Given the description of an element on the screen output the (x, y) to click on. 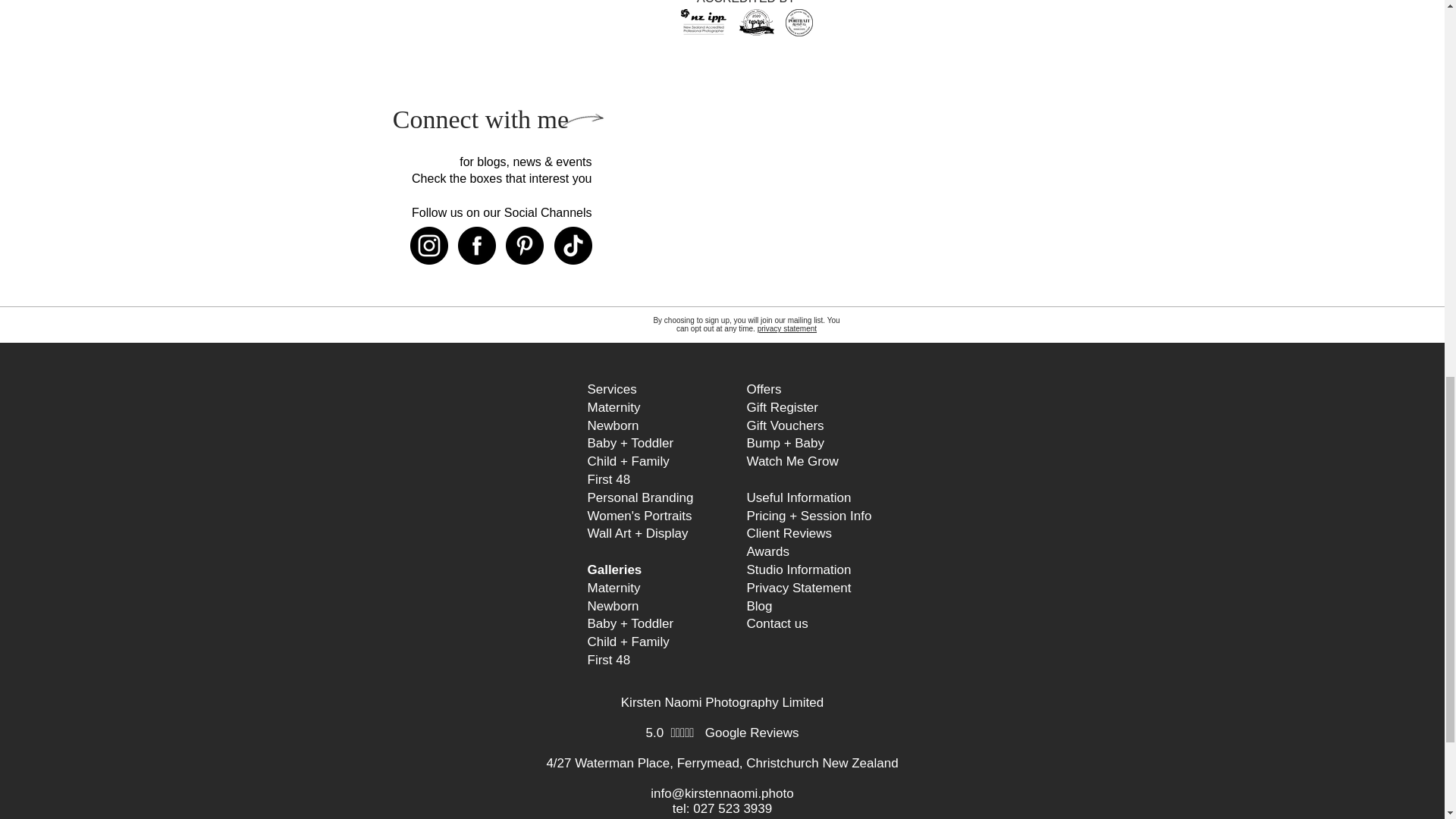
privacy statement (786, 328)
Services (611, 389)
Newborn (612, 425)
Maternity (613, 407)
